Given the description of an element on the screen output the (x, y) to click on. 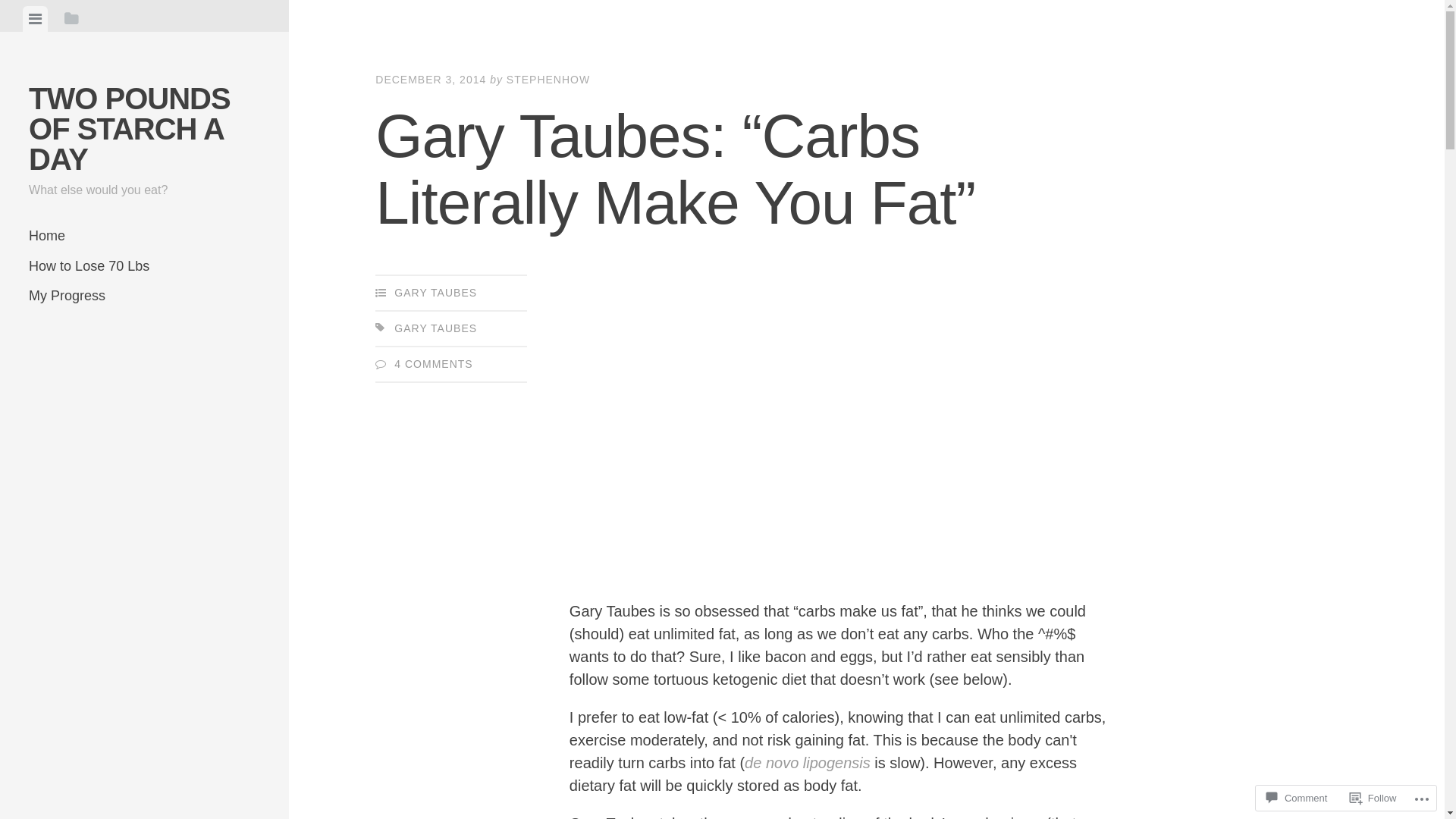
GARY TAUBES Element type: text (435, 328)
STEPHENHOW Element type: text (547, 79)
Comment Element type: text (1296, 797)
de novo lipogensis Element type: text (807, 762)
Home Element type: text (144, 236)
4 COMMENTS Element type: text (433, 363)
My Progress Element type: text (144, 295)
Follow Element type: text (1372, 797)
TWO POUNDS OF STARCH A DAY Element type: text (129, 128)
How to Lose 70 Lbs Element type: text (144, 266)
DECEMBER 3, 2014 Element type: text (430, 79)
GARY TAUBES Element type: text (435, 292)
